Given the description of an element on the screen output the (x, y) to click on. 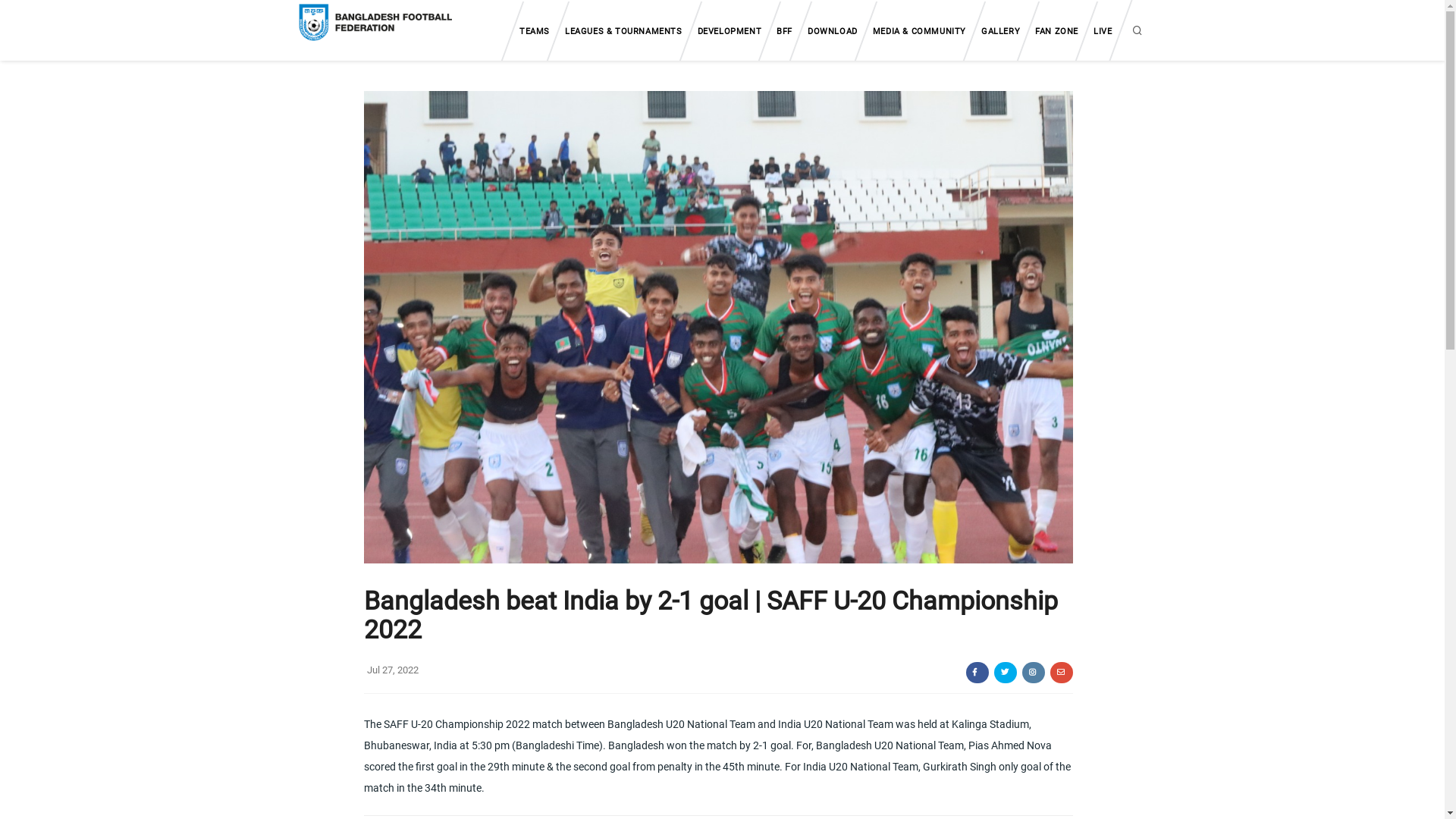
LIVE Element type: text (1102, 30)
TEAMS Element type: text (534, 30)
DEVELOPMENT Element type: text (729, 30)
BFF Element type: text (784, 30)
DOWNLOAD Element type: text (832, 30)
FAN ZONE Element type: text (1056, 30)
LEAGUES & TOURNAMENTS Element type: text (623, 30)
GALLERY Element type: text (1000, 30)
MEDIA & COMMUNITY Element type: text (919, 30)
